Given the description of an element on the screen output the (x, y) to click on. 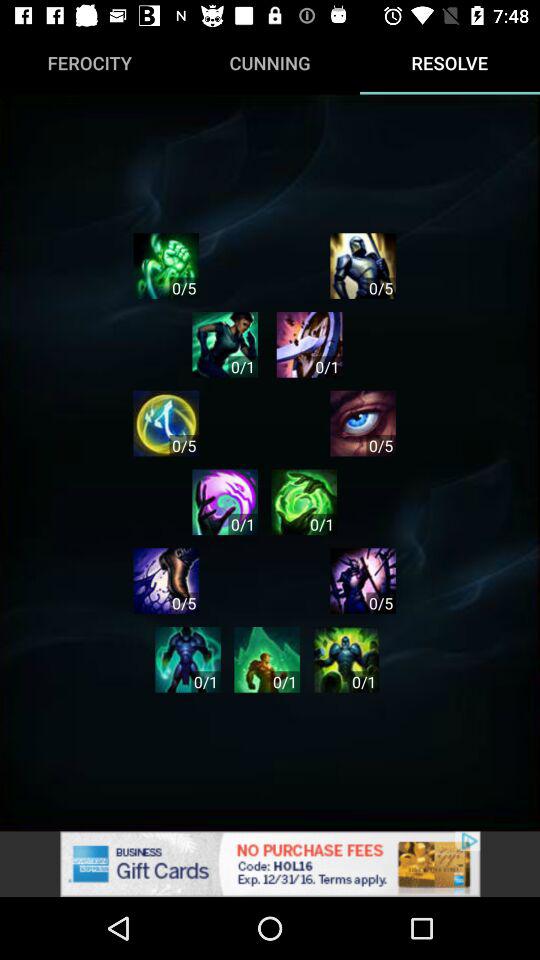
add icon to page (346, 659)
